Given the description of an element on the screen output the (x, y) to click on. 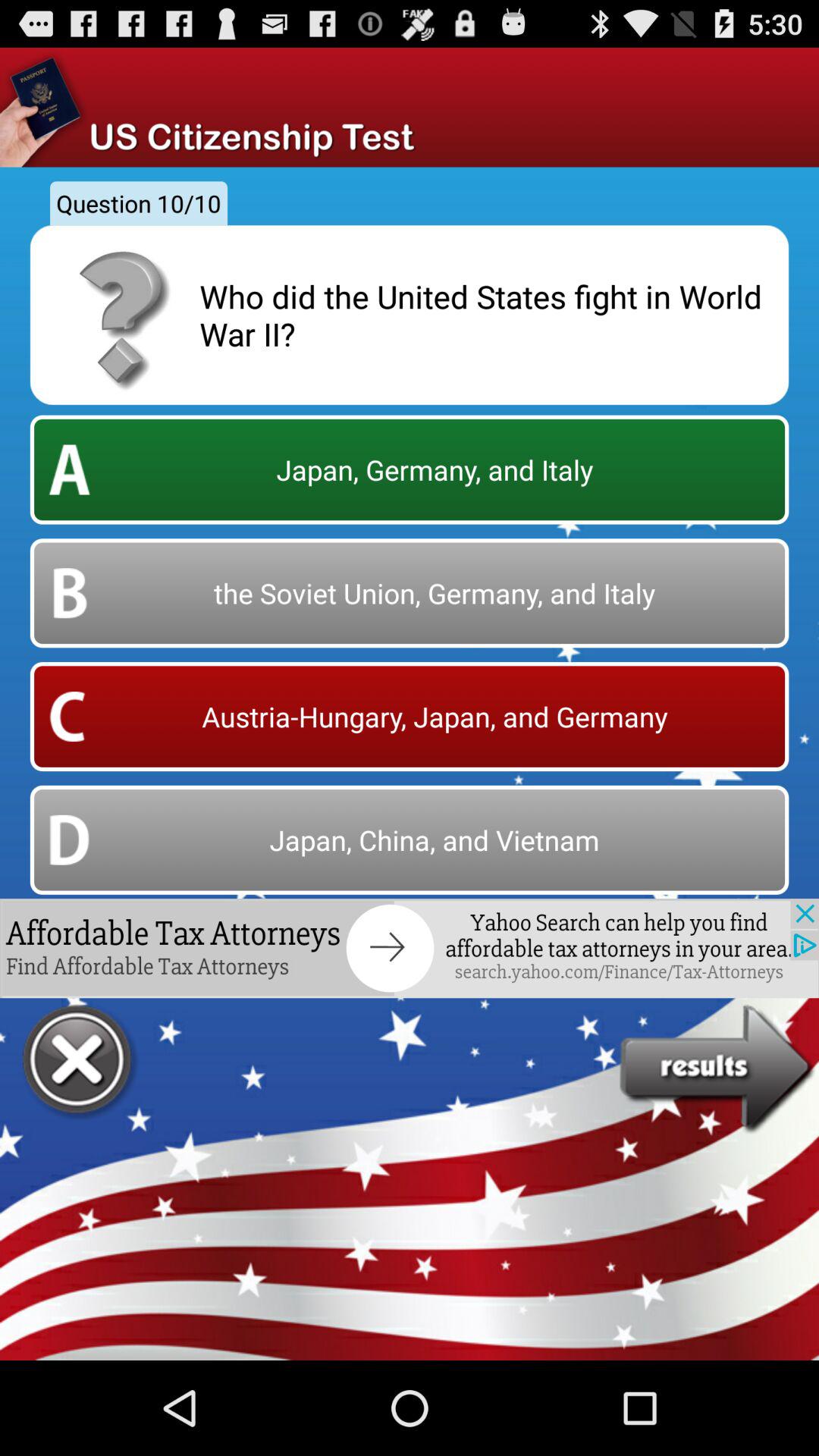
close button (79, 1061)
